Given the description of an element on the screen output the (x, y) to click on. 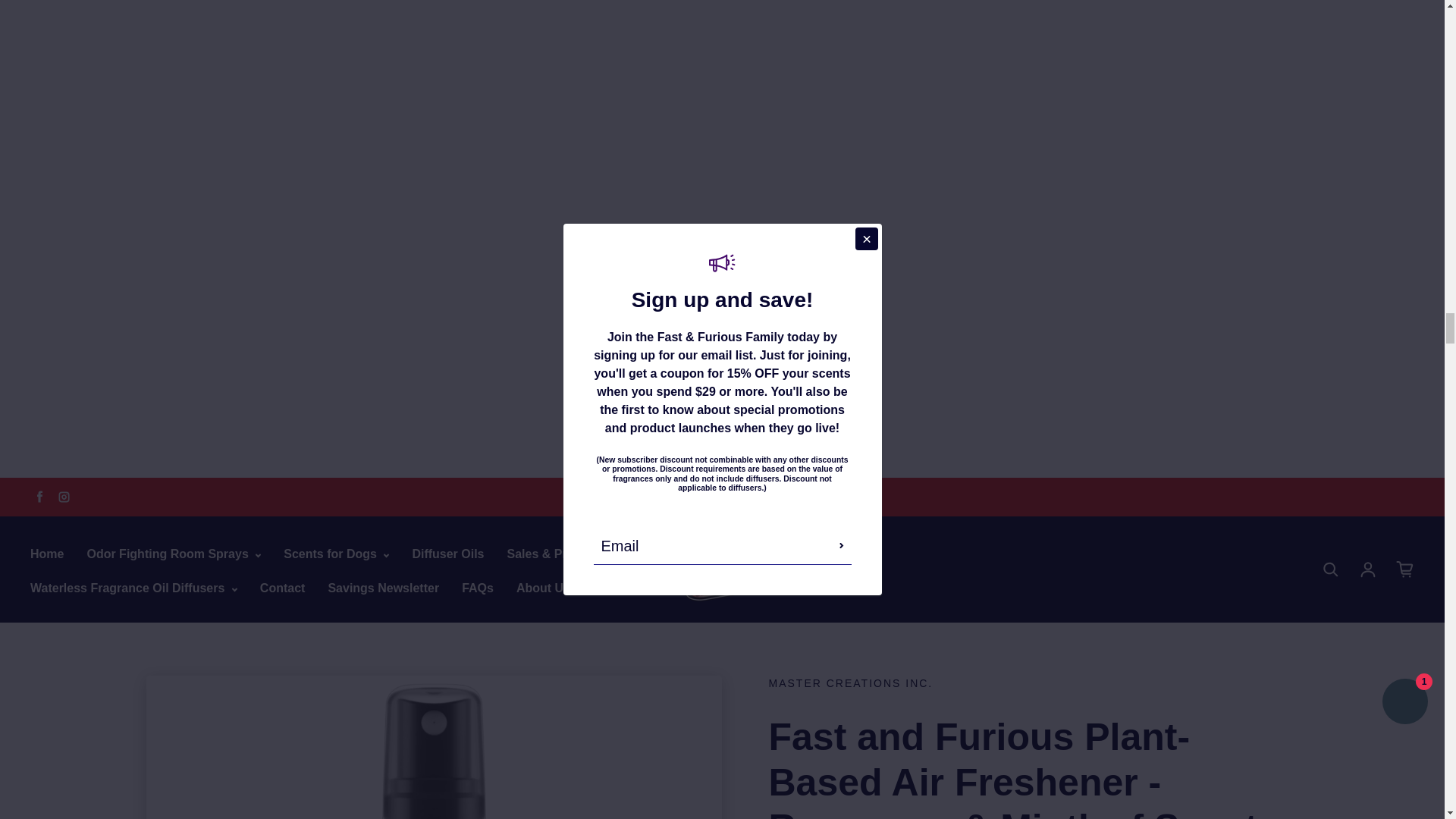
Contact (282, 588)
Instagram (64, 496)
Scents for Dogs (335, 553)
Facebook (39, 496)
Learn More (821, 496)
Home (47, 553)
About Us (543, 588)
Odor Fighting Room Sprays (172, 553)
Log in (1367, 569)
Diffuser Oils (447, 553)
FAQs (477, 588)
Savings Newsletter (383, 588)
Waterless Fragrance Oil Diffusers (133, 588)
